Given the description of an element on the screen output the (x, y) to click on. 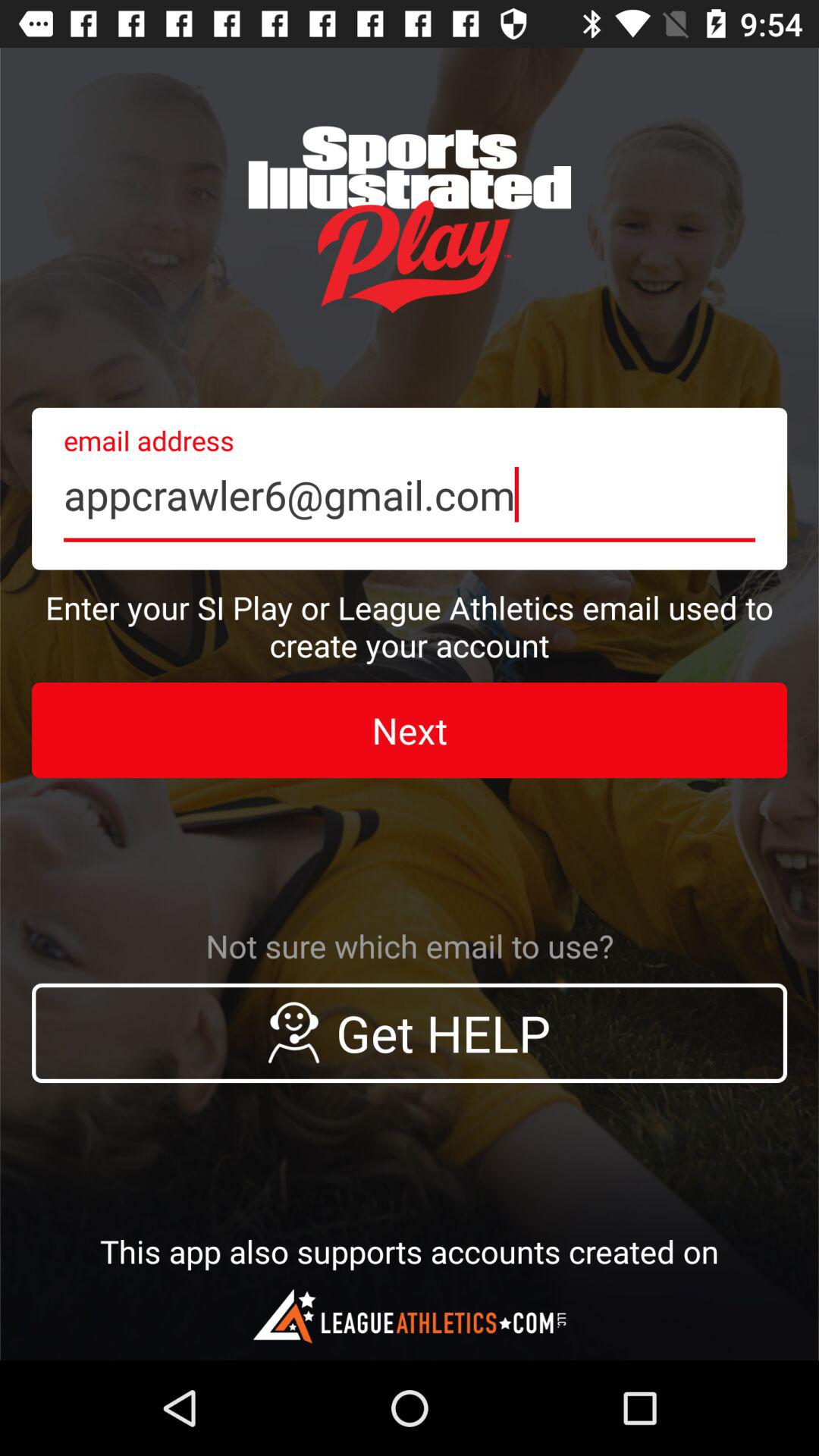
turn off next item (409, 730)
